Given the description of an element on the screen output the (x, y) to click on. 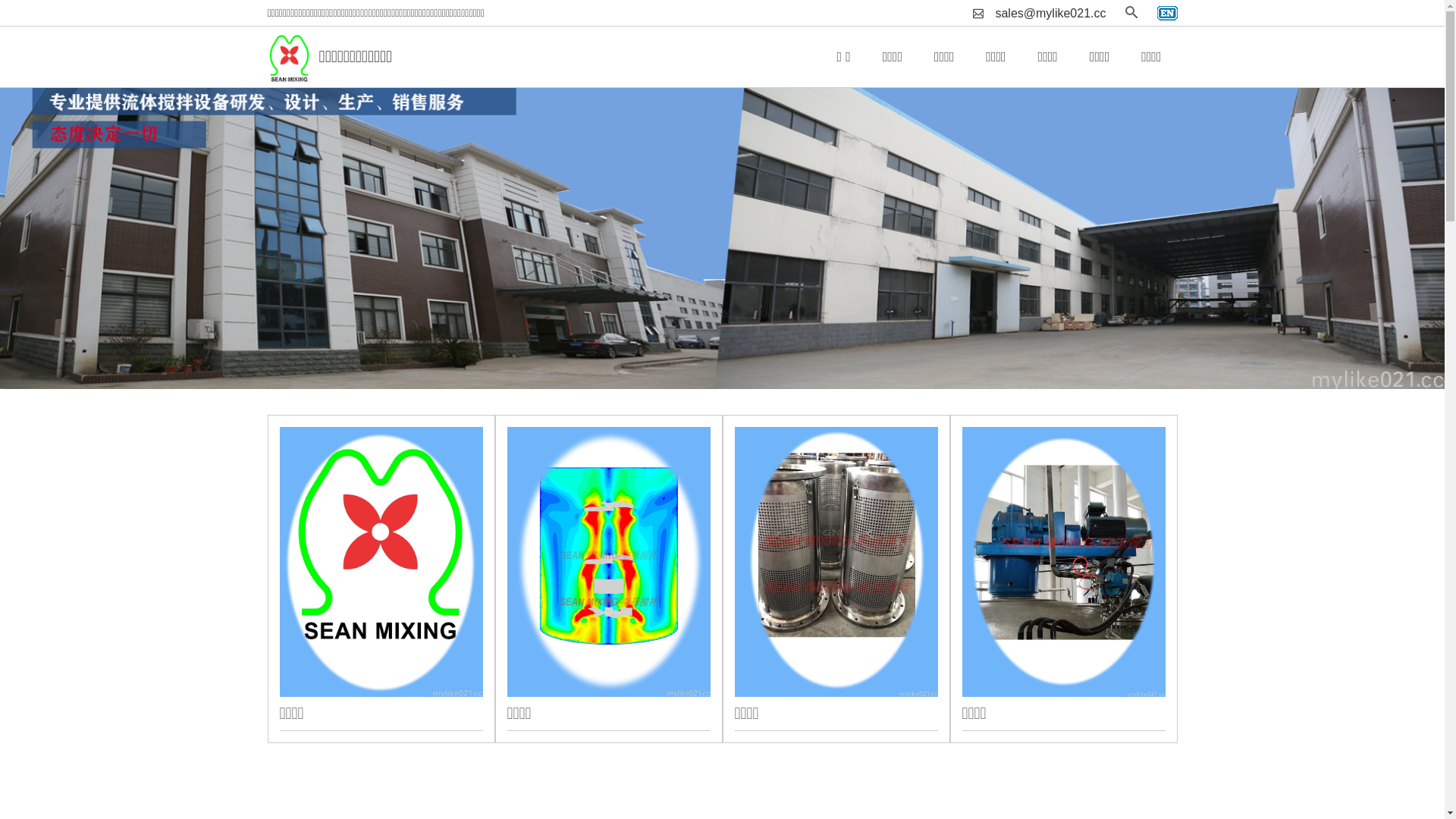
 sales@mylike021.cc Element type: text (1049, 12)
  Element type: text (1167, 13)
